Given the description of an element on the screen output the (x, y) to click on. 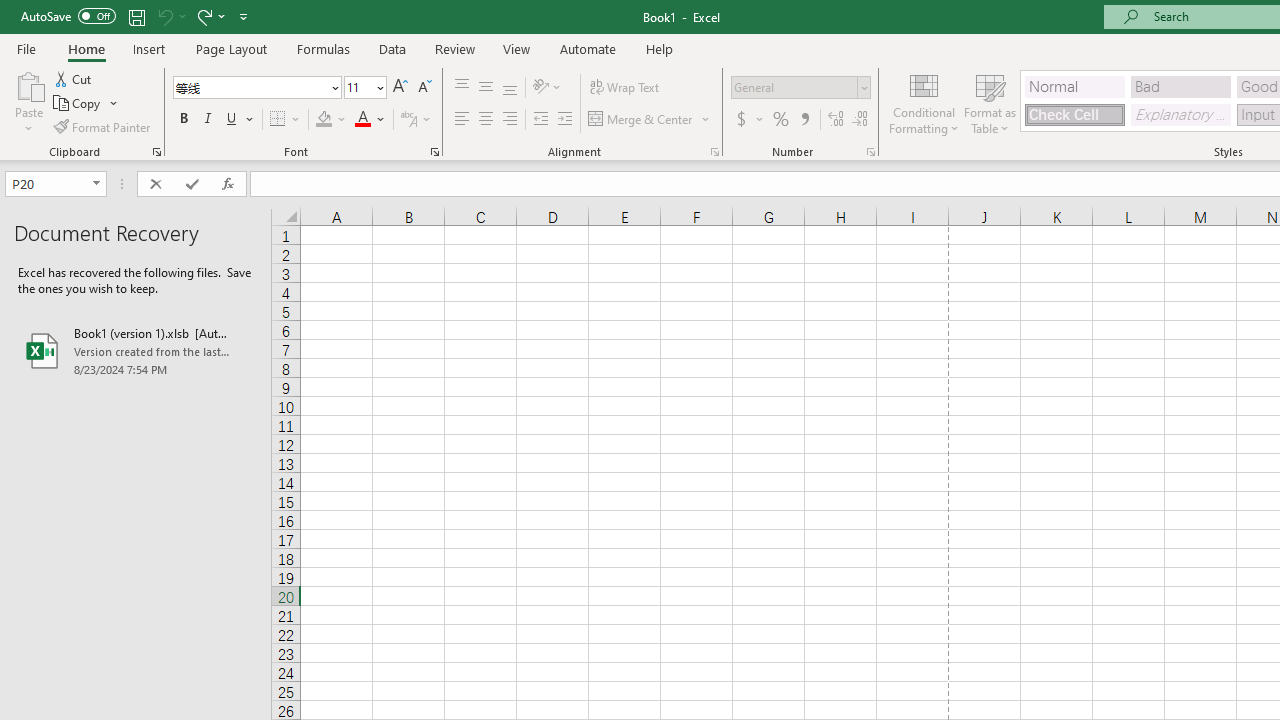
Merge & Center (641, 119)
Show Phonetic Field (408, 119)
Show Phonetic Field (416, 119)
Format Cell Alignment (714, 151)
Orientation (547, 87)
